Given the description of an element on the screen output the (x, y) to click on. 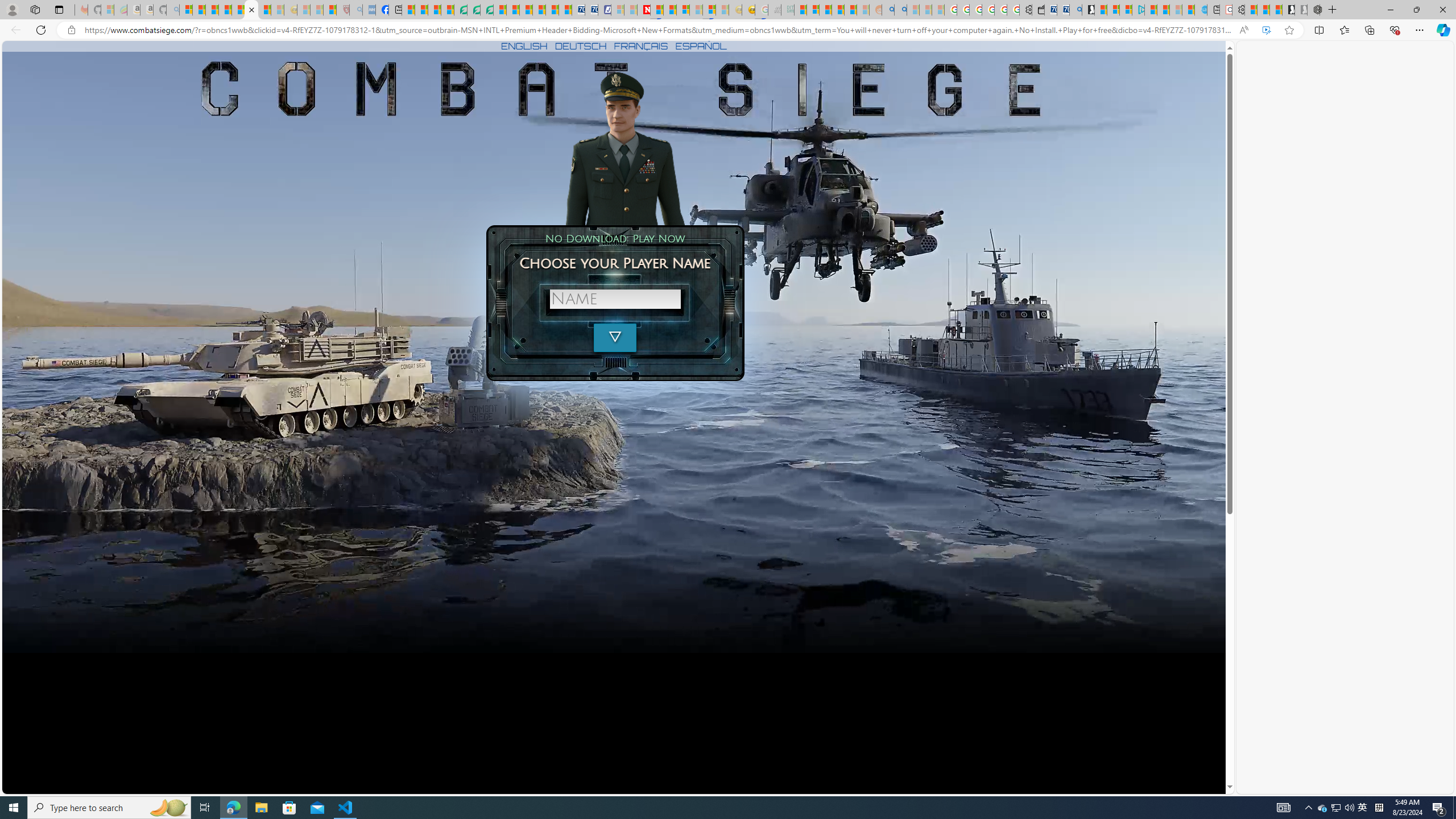
LendingTree - Compare Lenders (460, 9)
Combat Siege (251, 9)
New Report Confirms 2023 Was Record Hot | Watch (237, 9)
DITOGAMES AG Imprint - Sleeping (787, 9)
Cheap Car Rentals - Save70.com (1063, 9)
ENGLISH (523, 45)
